Given the description of an element on the screen output the (x, y) to click on. 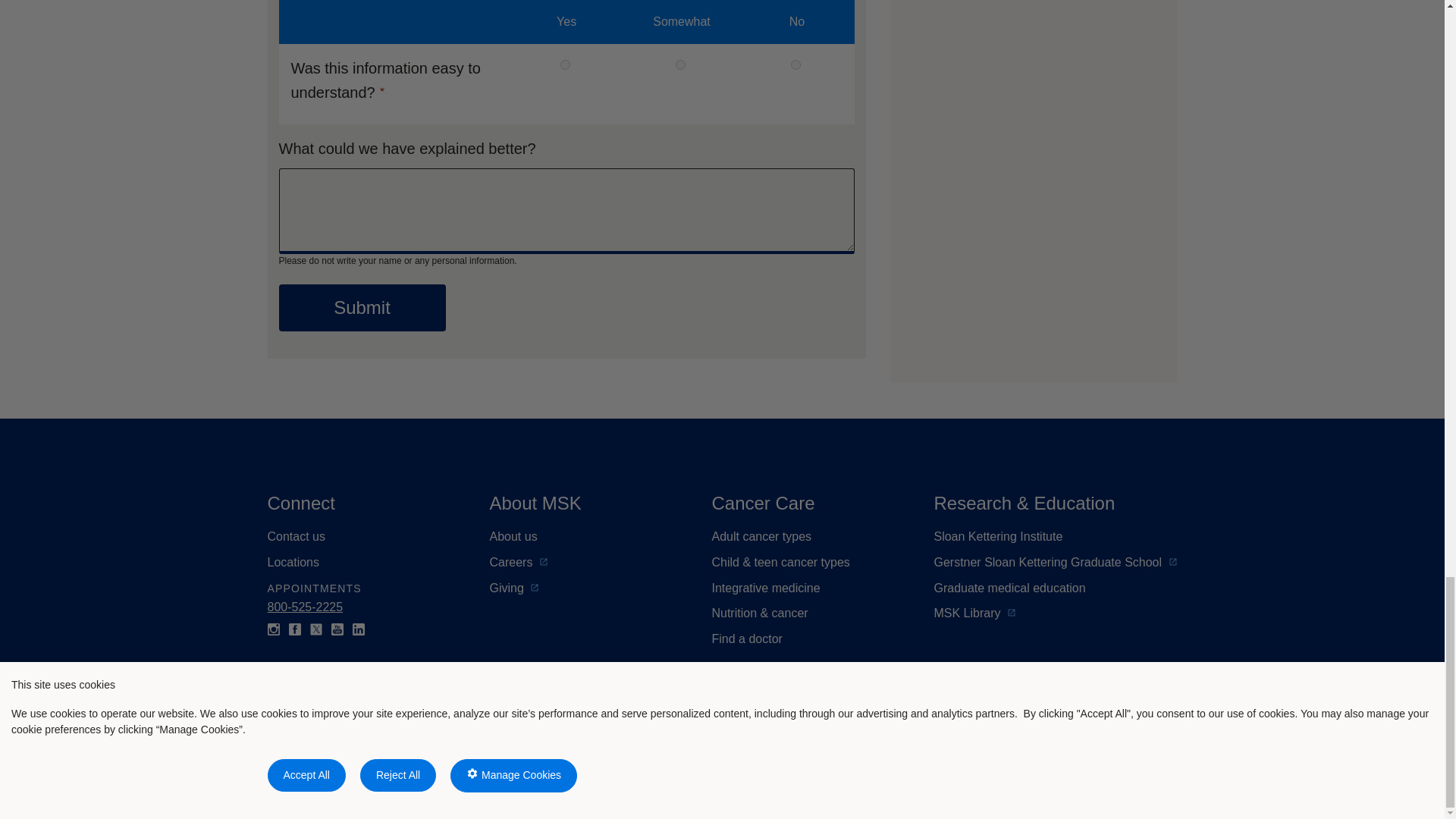
Submit (362, 307)
Memorial Sloan Kettering Cancer Center (409, 751)
Somewhat (680, 64)
Yes (565, 64)
No (795, 64)
